Given the description of an element on the screen output the (x, y) to click on. 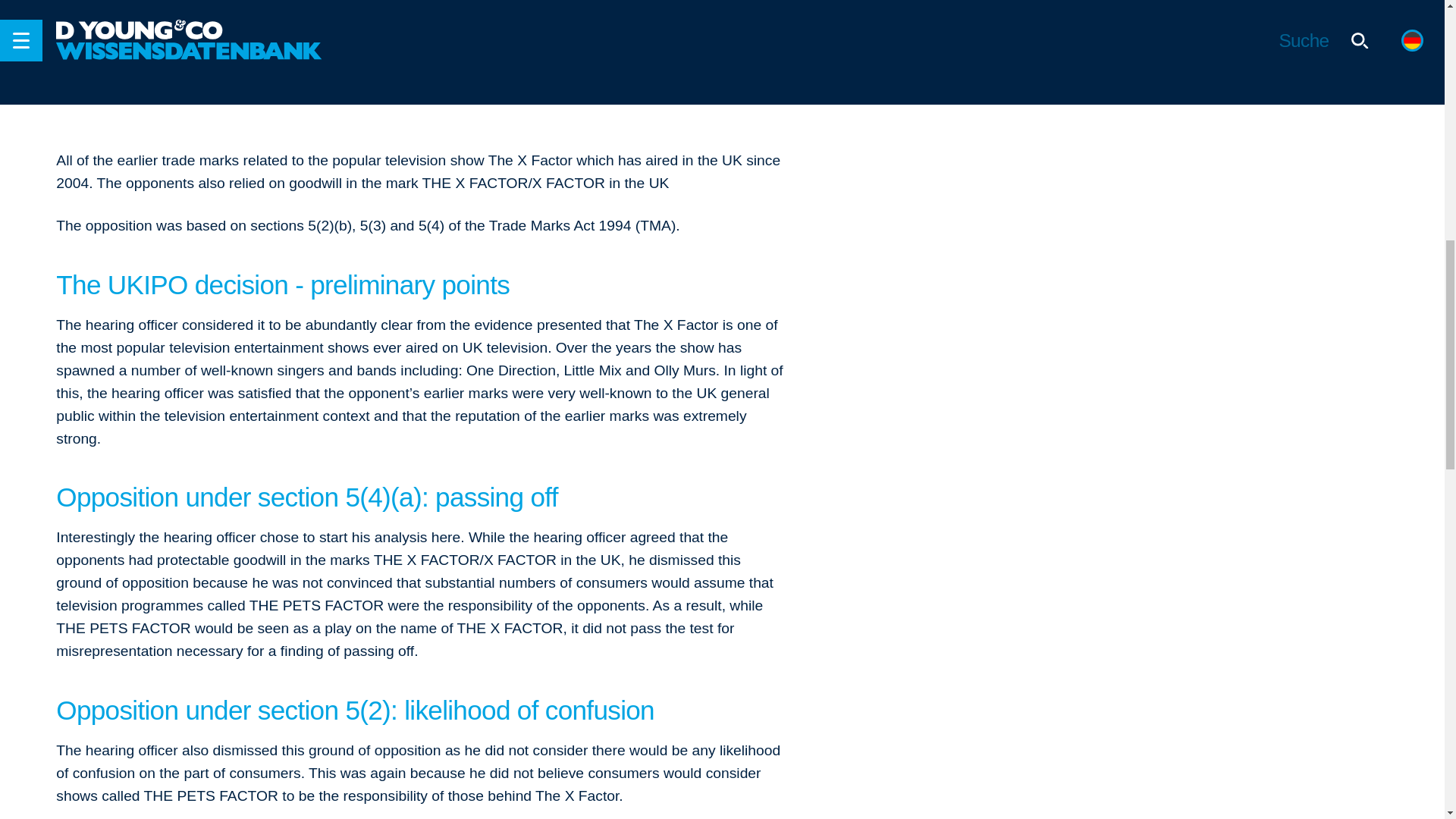
Entry title (1232, 48)
Entry title (1232, 11)
